Given the description of an element on the screen output the (x, y) to click on. 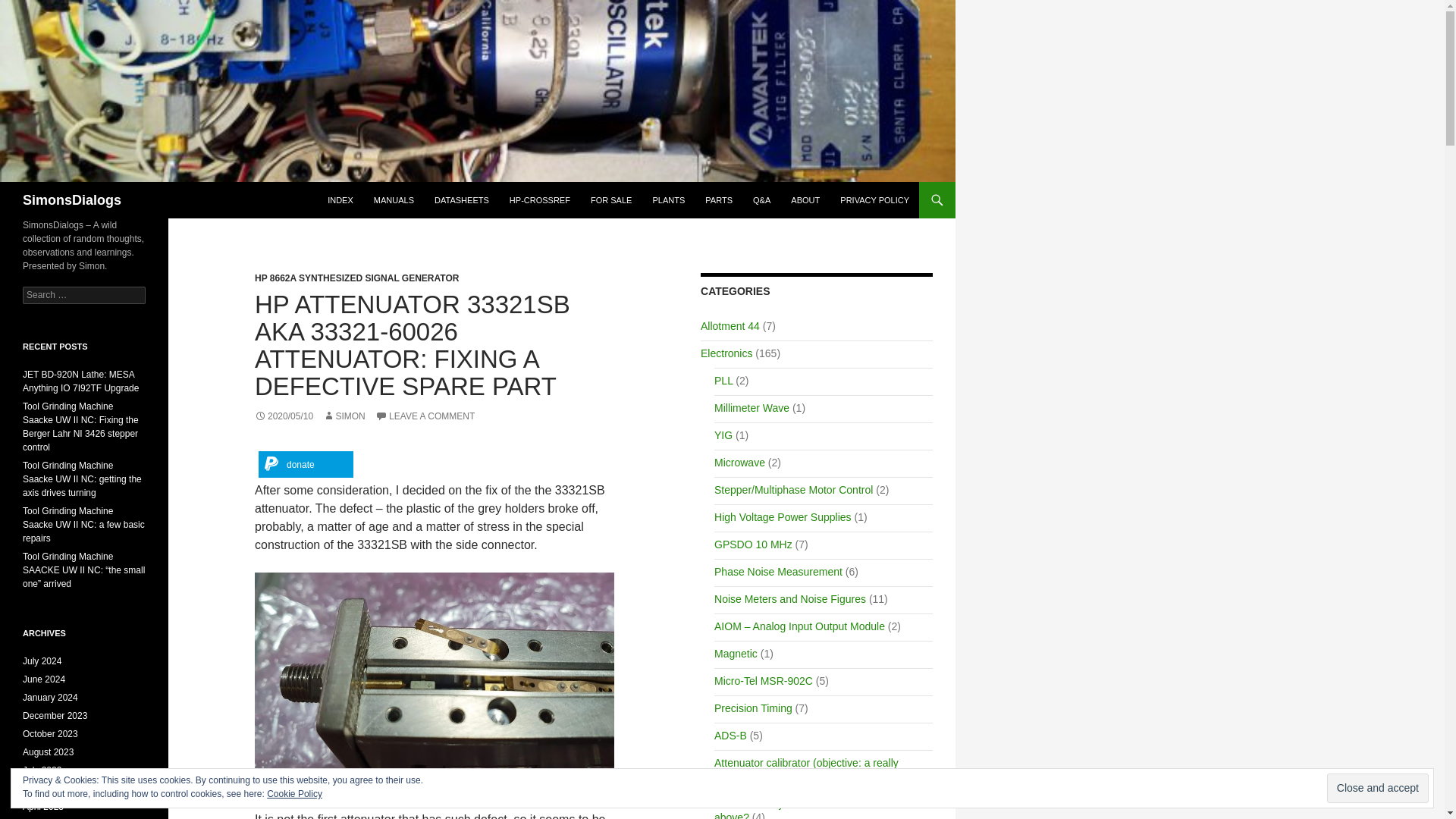
DATASHEETS (461, 199)
PRIVACY POLICY (874, 199)
SIMON (344, 416)
MANUALS (394, 199)
FOR SALE (610, 199)
ABOUT (804, 199)
Close and accept (1377, 788)
LEAVE A COMMENT (424, 416)
Donate with PayPal (306, 464)
